Given the description of an element on the screen output the (x, y) to click on. 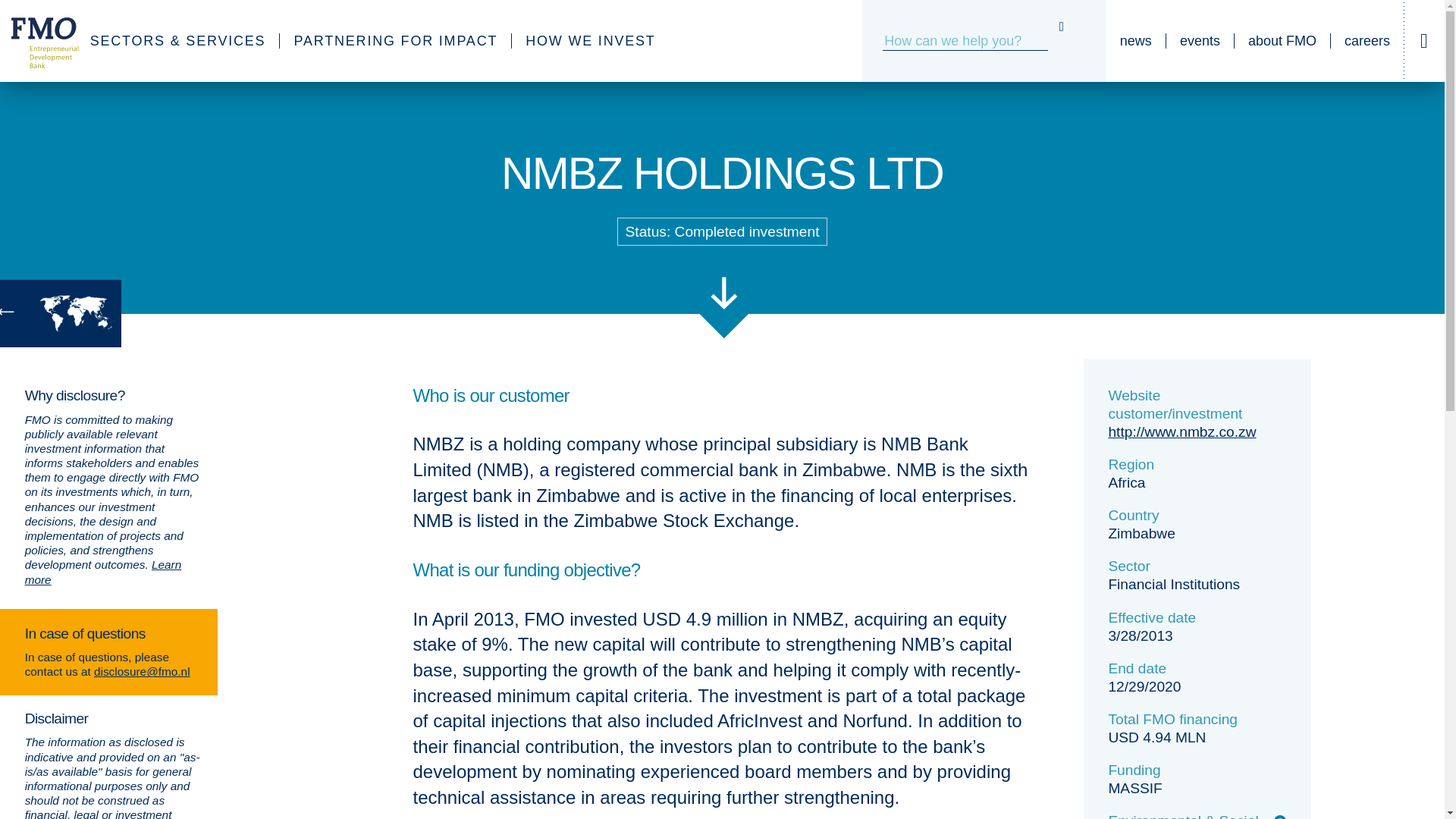
about FMO (1282, 40)
HOW WE INVEST (590, 40)
careers (1366, 40)
Back to map (60, 313)
events (1200, 40)
To the FMO homepage (37, 40)
PARTNERING FOR IMPACT (395, 40)
news (1136, 40)
Learn more (103, 571)
